Given the description of an element on the screen output the (x, y) to click on. 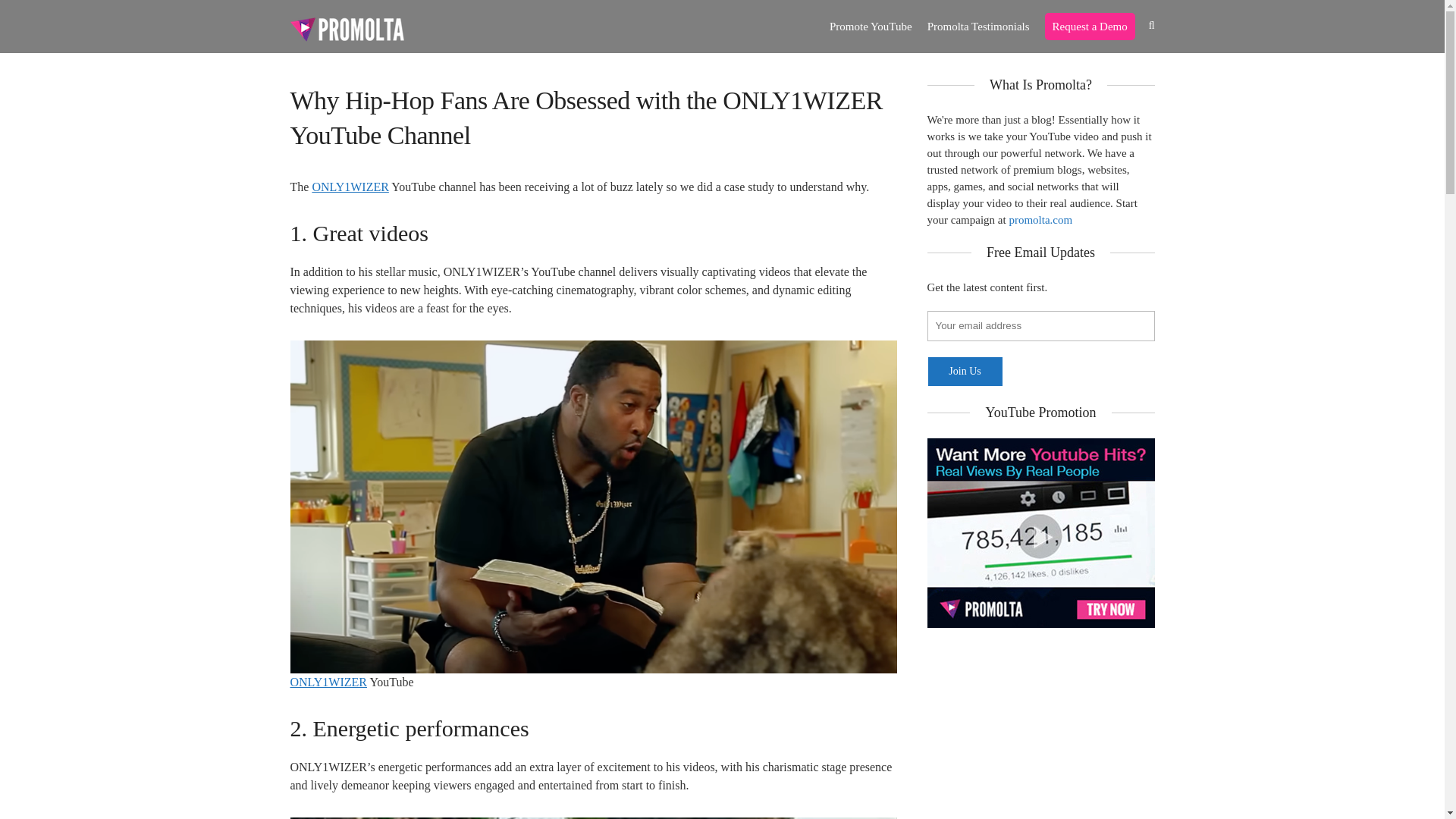
Request a Demo (1090, 26)
Join Us (964, 371)
Promolta Testimonials (978, 26)
Join Us (964, 371)
ONLY1WIZER (349, 186)
ONLY1WIZER (327, 681)
promolta.com (1040, 219)
Promolta Blog (346, 28)
Promote YouTube (870, 26)
